Given the description of an element on the screen output the (x, y) to click on. 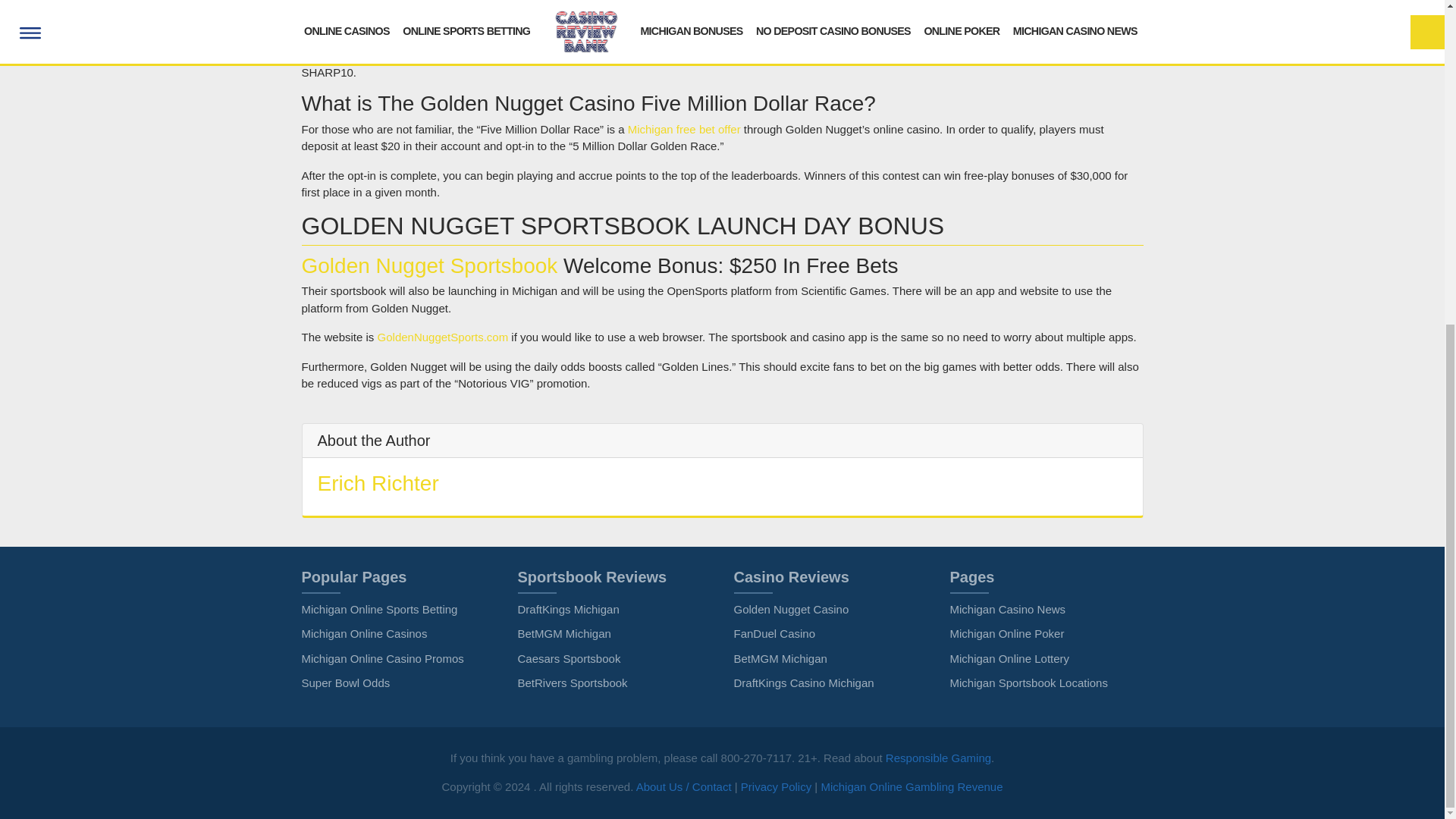
Erich Richter (377, 483)
Michigan Online Casinos (364, 633)
Michigan Online Sports Betting (379, 608)
Michigan free bet offer (684, 128)
GoldenNuggetSports.com (442, 336)
Golden Nugget Sportsbook (429, 265)
Golden Nugget Michigan bonus code (1002, 54)
